Given the description of an element on the screen output the (x, y) to click on. 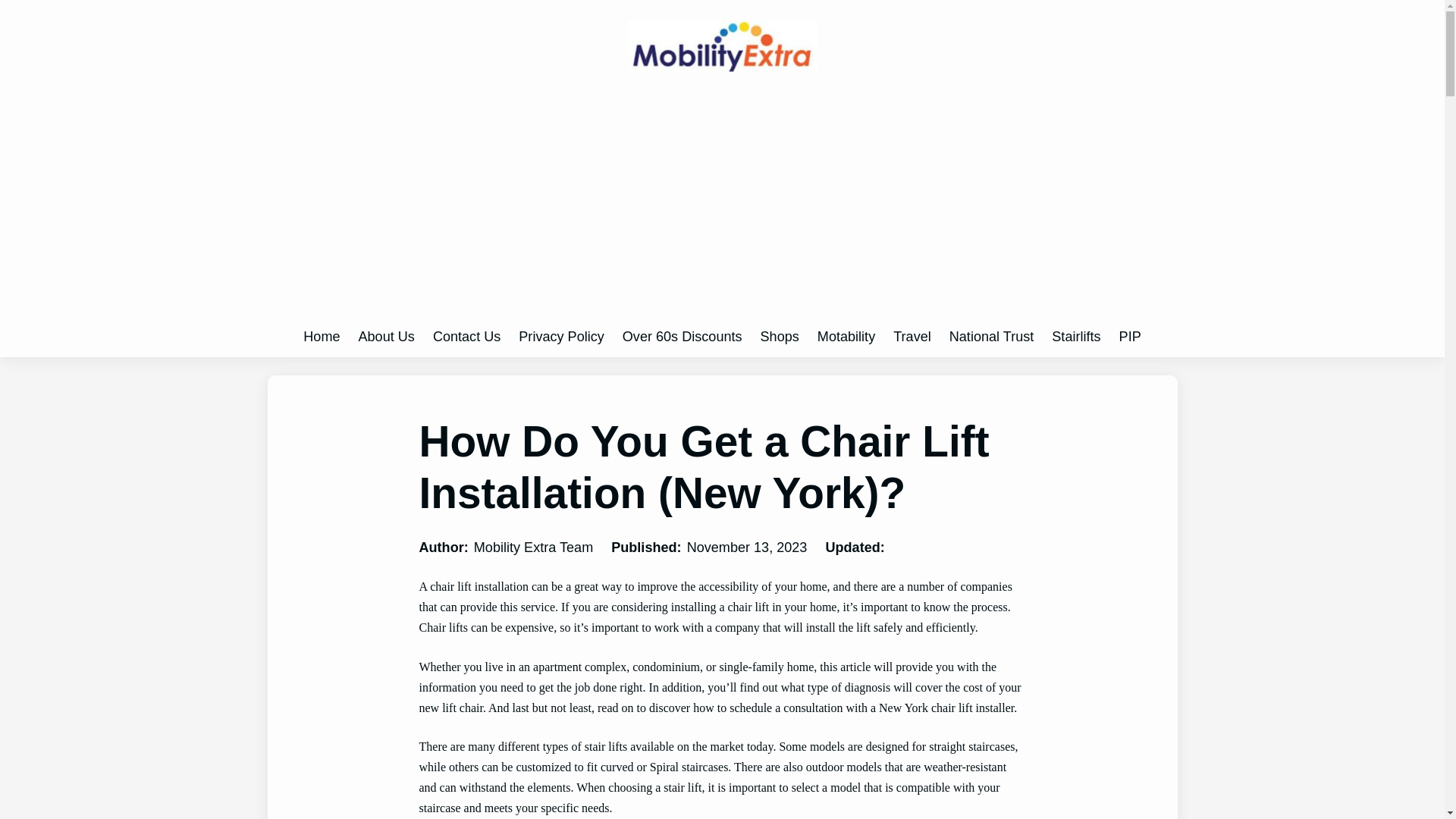
Privacy Policy (561, 336)
About Us (385, 336)
Travel (912, 336)
Stairlifts (1075, 336)
Home (320, 336)
Motability (845, 336)
PIP (1130, 336)
Over 60s Discounts (682, 336)
National Trust (991, 336)
Shops (779, 336)
Contact Us (466, 336)
